Given the description of an element on the screen output the (x, y) to click on. 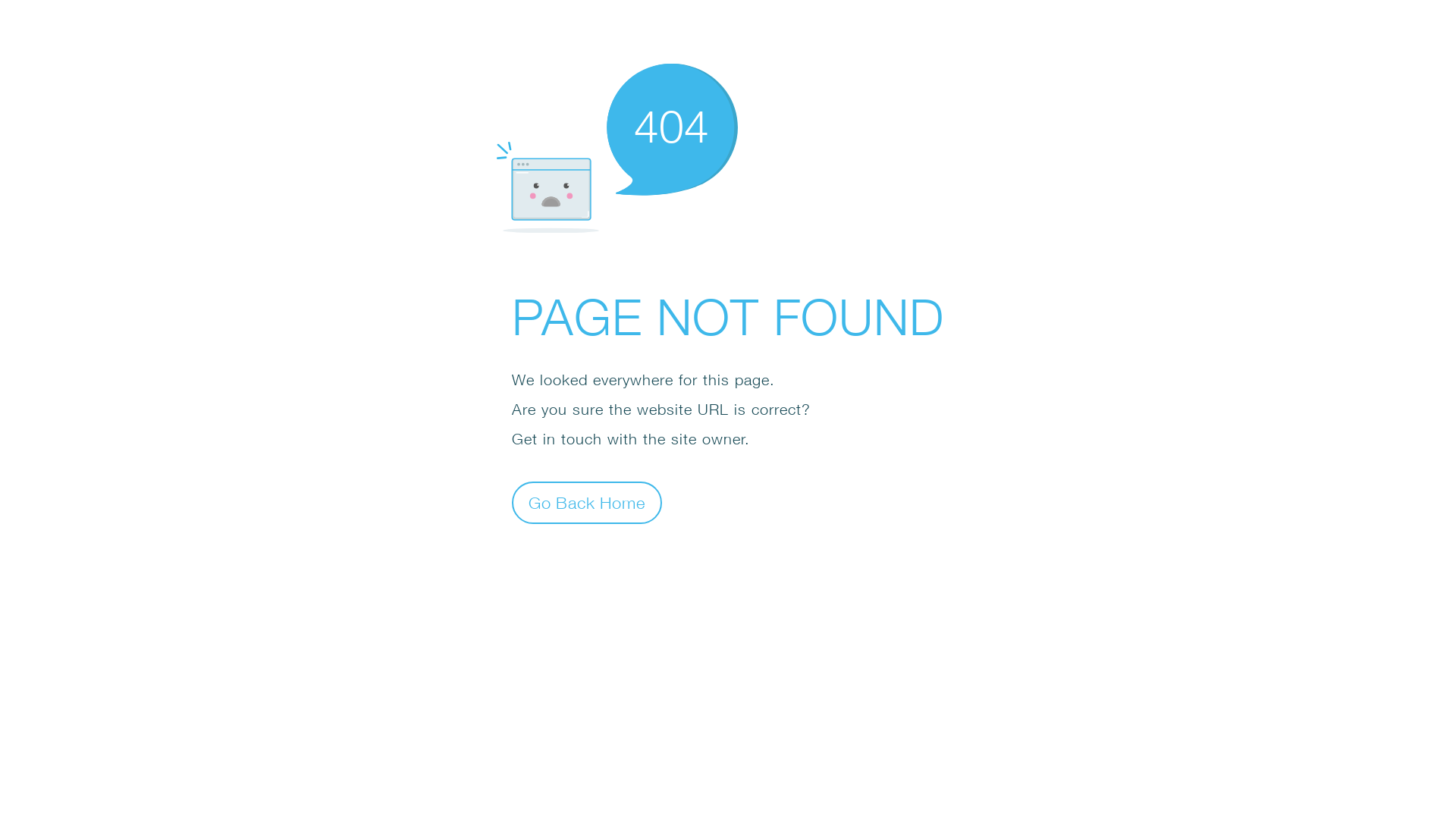
Go Back Home Element type: text (586, 502)
